Given the description of an element on the screen output the (x, y) to click on. 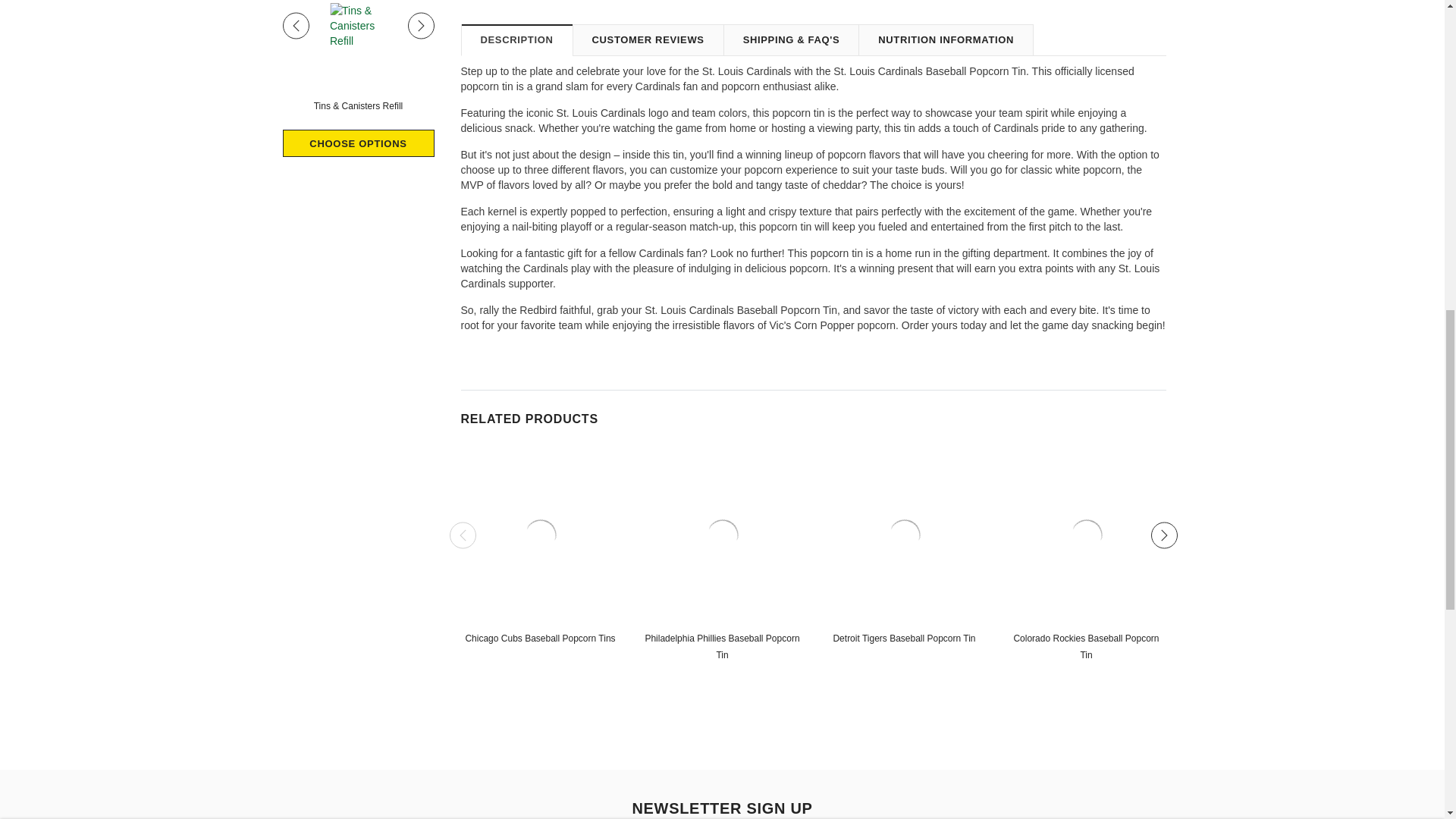
Add to Cart (1090, 30)
1 (959, 30)
